Given the description of an element on the screen output the (x, y) to click on. 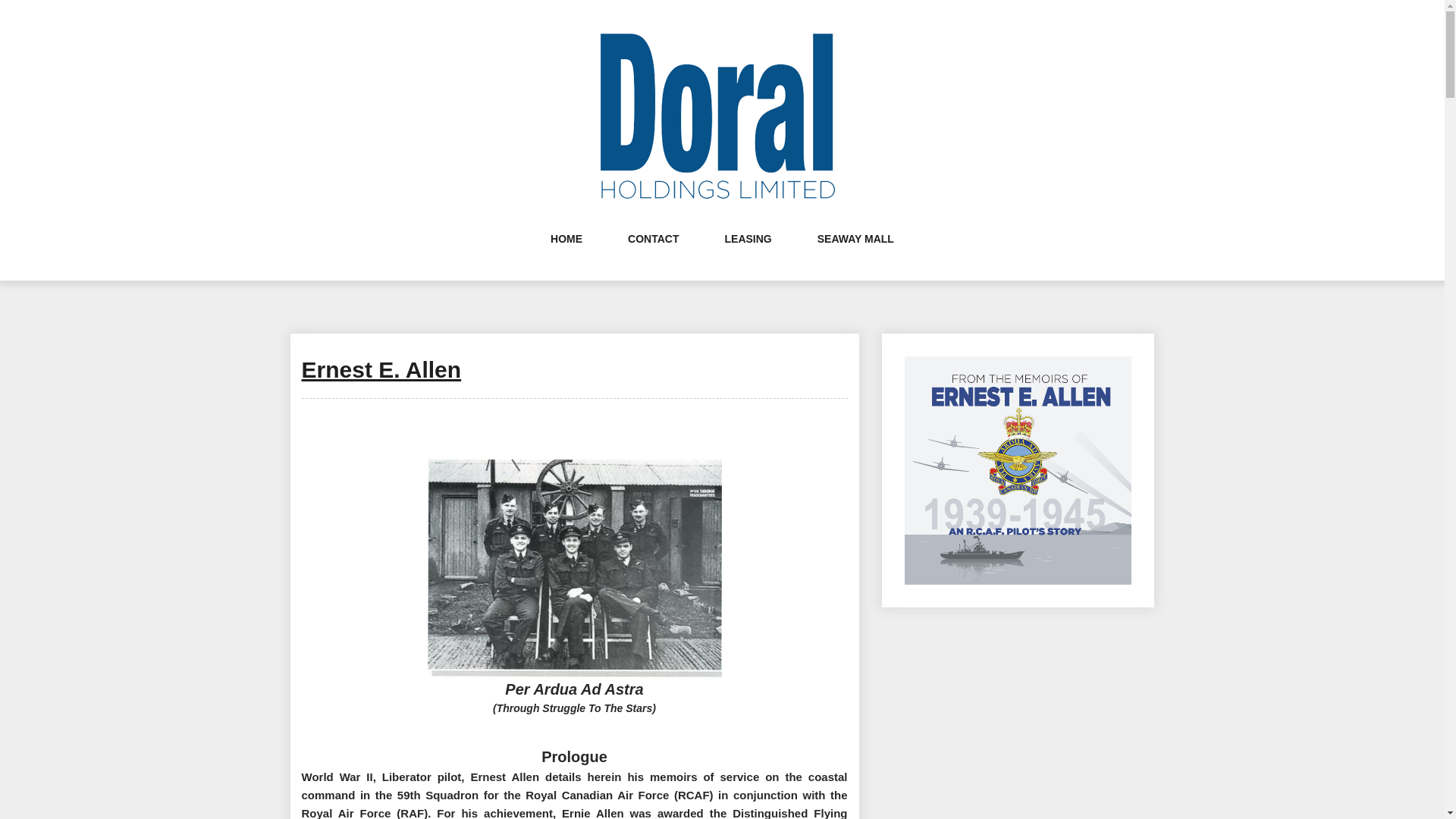
SEAWAY MALL (854, 253)
Ernest E. Allen (381, 369)
CONTACT (652, 253)
LEASING (748, 253)
